Given the description of an element on the screen output the (x, y) to click on. 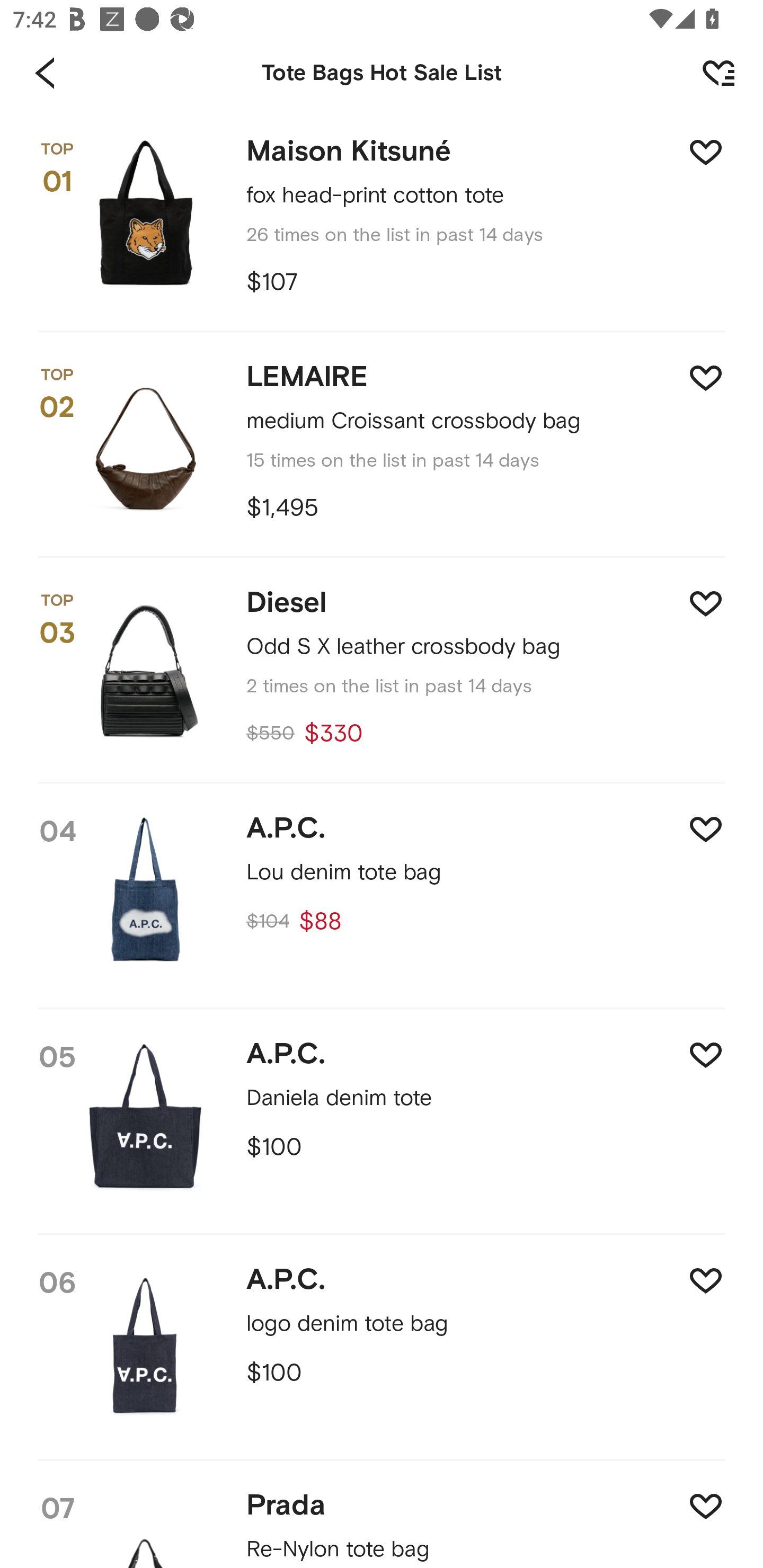
04 A.P.C. Lou denim tote bag $104 $88 (381, 897)
05 A.P.C. Daniela denim tote $100 (381, 1123)
06 A.P.C. logo denim tote bag $100 (381, 1348)
07 Prada Re-Nylon tote bag (381, 1514)
